Given the description of an element on the screen output the (x, y) to click on. 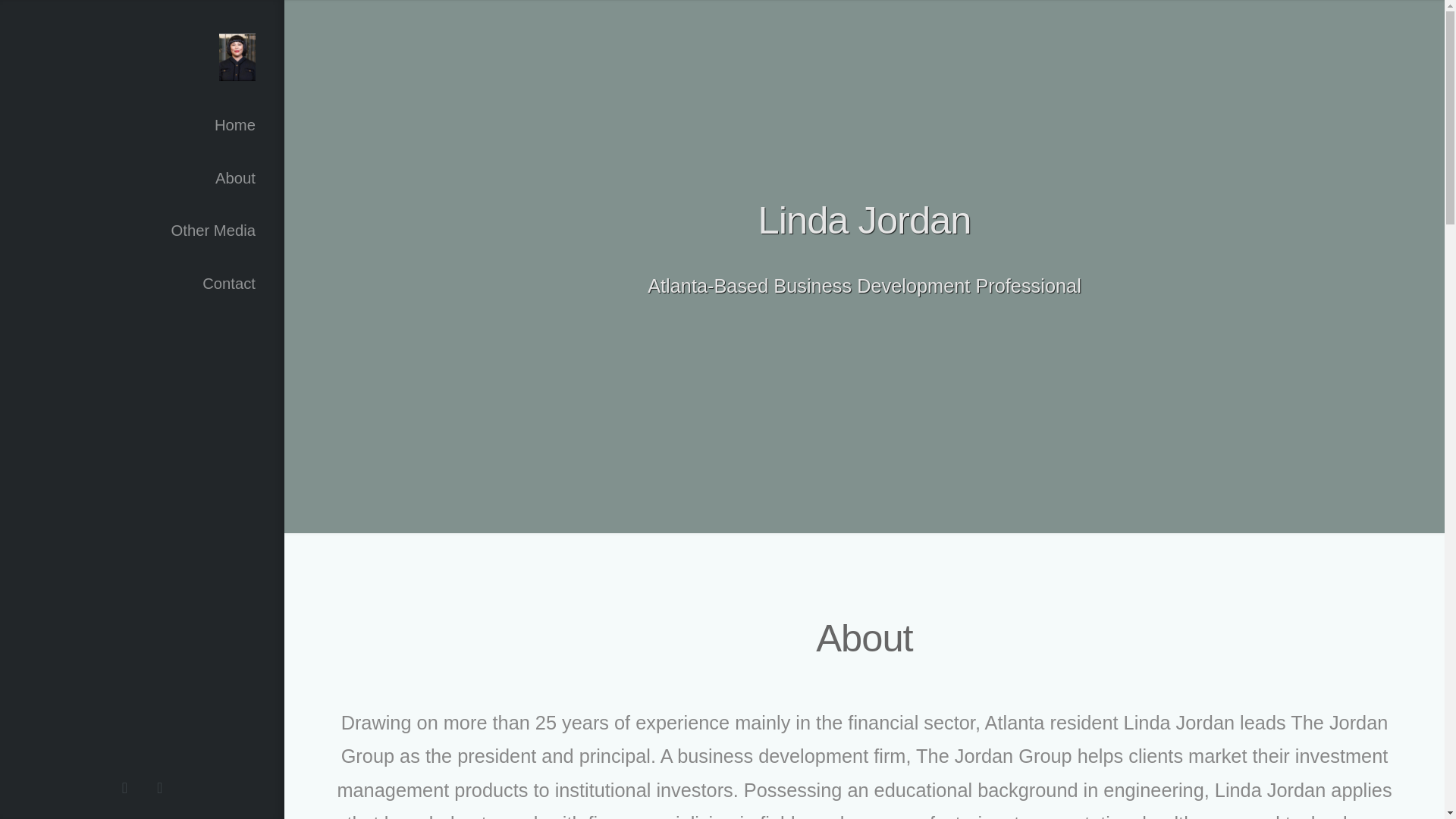
Home (141, 124)
About (141, 177)
About (141, 177)
Contact (141, 283)
Other Media (141, 230)
My LinkedIn account (159, 788)
Other Media (141, 230)
My Medium account (124, 788)
Home (141, 124)
Contact (141, 283)
